Given the description of an element on the screen output the (x, y) to click on. 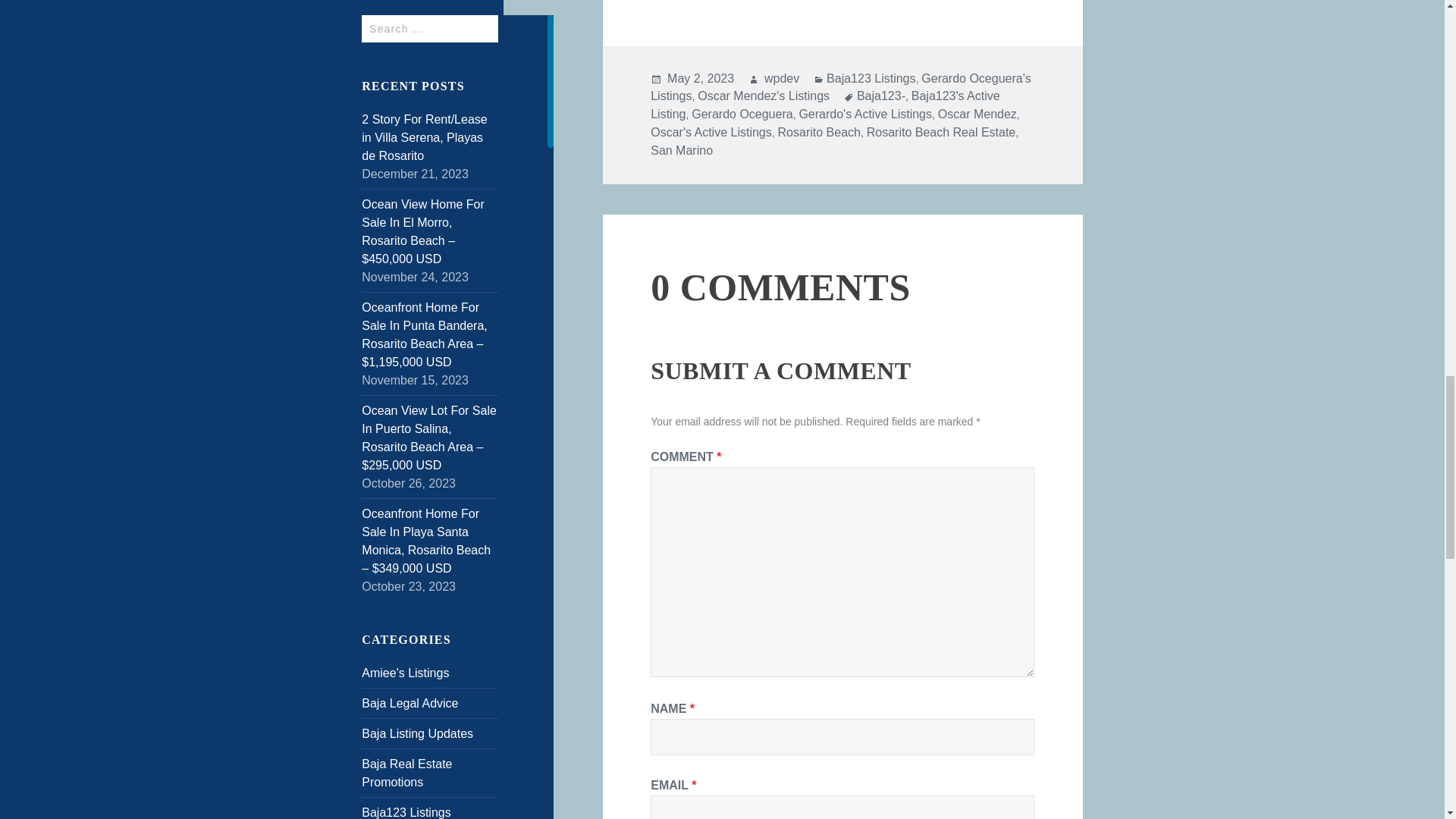
Posts by wpdev (781, 78)
